Given the description of an element on the screen output the (x, y) to click on. 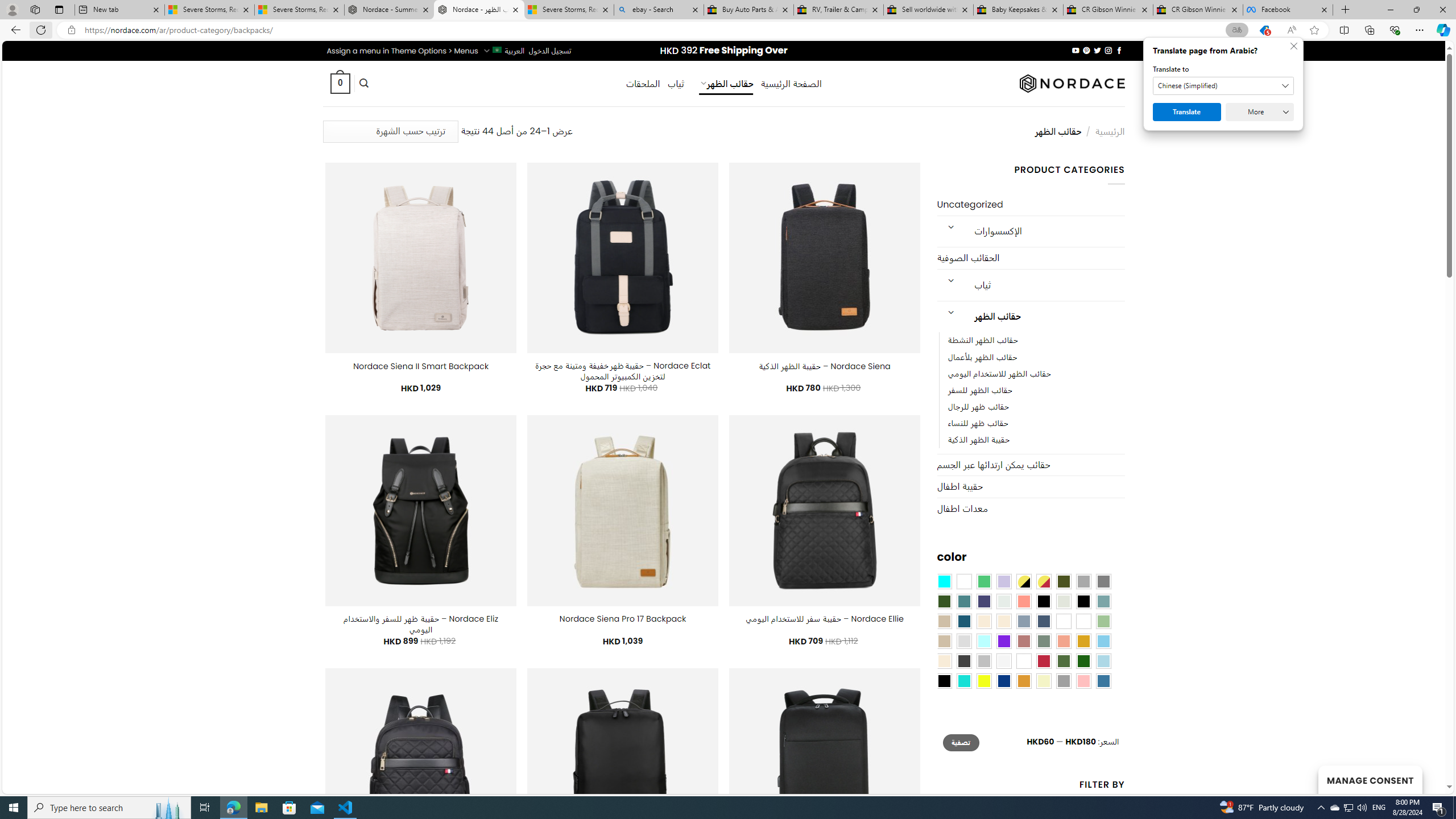
Kelp (1063, 621)
Ash Gray (1063, 601)
Emerald Green (983, 581)
More (1259, 112)
Aqua Blue (944, 581)
